Given the description of an element on the screen output the (x, y) to click on. 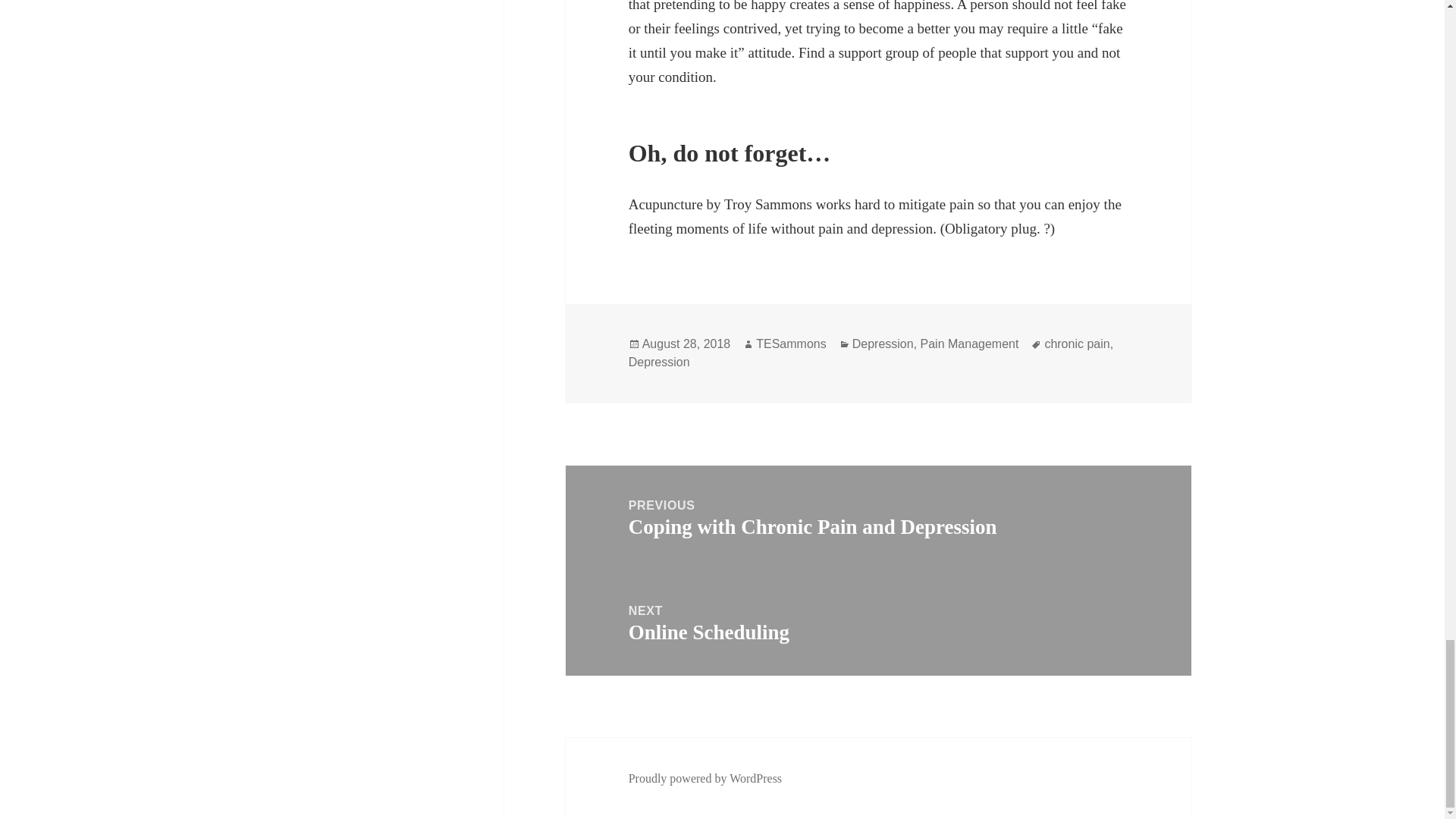
chronic pain (1076, 344)
Pain Management (969, 344)
Depression (882, 344)
August 28, 2018 (686, 344)
TESammons (790, 344)
